Given the description of an element on the screen output the (x, y) to click on. 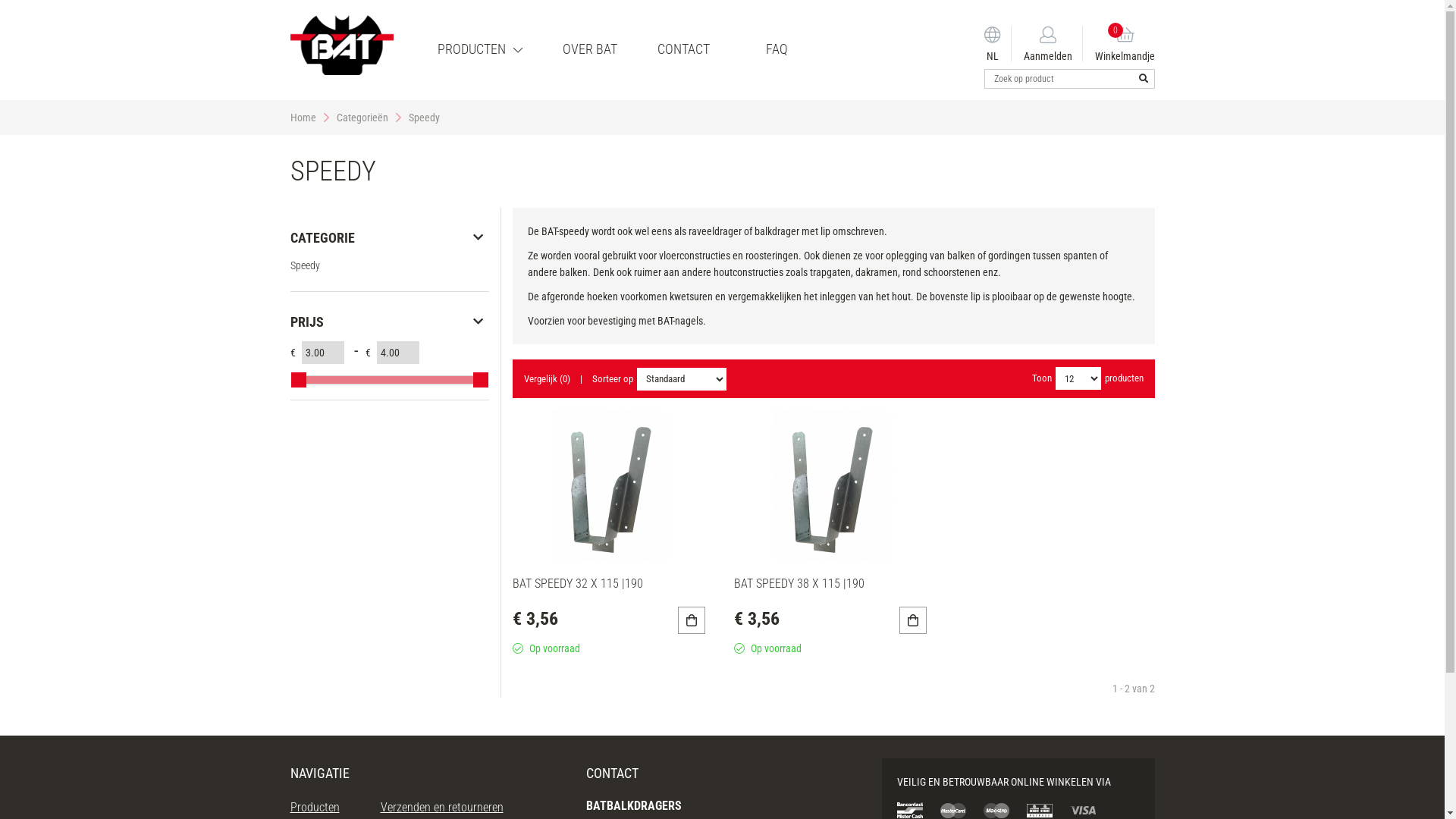
Winkelmandje
0 Element type: text (1119, 43)
Vergelijk (0) Element type: text (547, 378)
PRODUCTEN Element type: text (479, 49)
CONTACT Element type: text (683, 49)
ZOEKEN Element type: text (1142, 78)
OVER BAT Element type: text (588, 49)
BAT SPEEDY 38 X 115 |190 Element type: text (799, 583)
Aanmelden Element type: text (1047, 43)
Verzenden en retourneren Element type: text (441, 807)
NL Element type: text (992, 43)
FAQ Element type: text (776, 49)
BAT SPEEDY 32 X 115 |190 Element type: text (577, 583)
Home Element type: text (302, 117)
In winkelmandje Element type: text (912, 619)
In winkelmandje Element type: text (691, 619)
Producten Element type: text (313, 807)
